Given the description of an element on the screen output the (x, y) to click on. 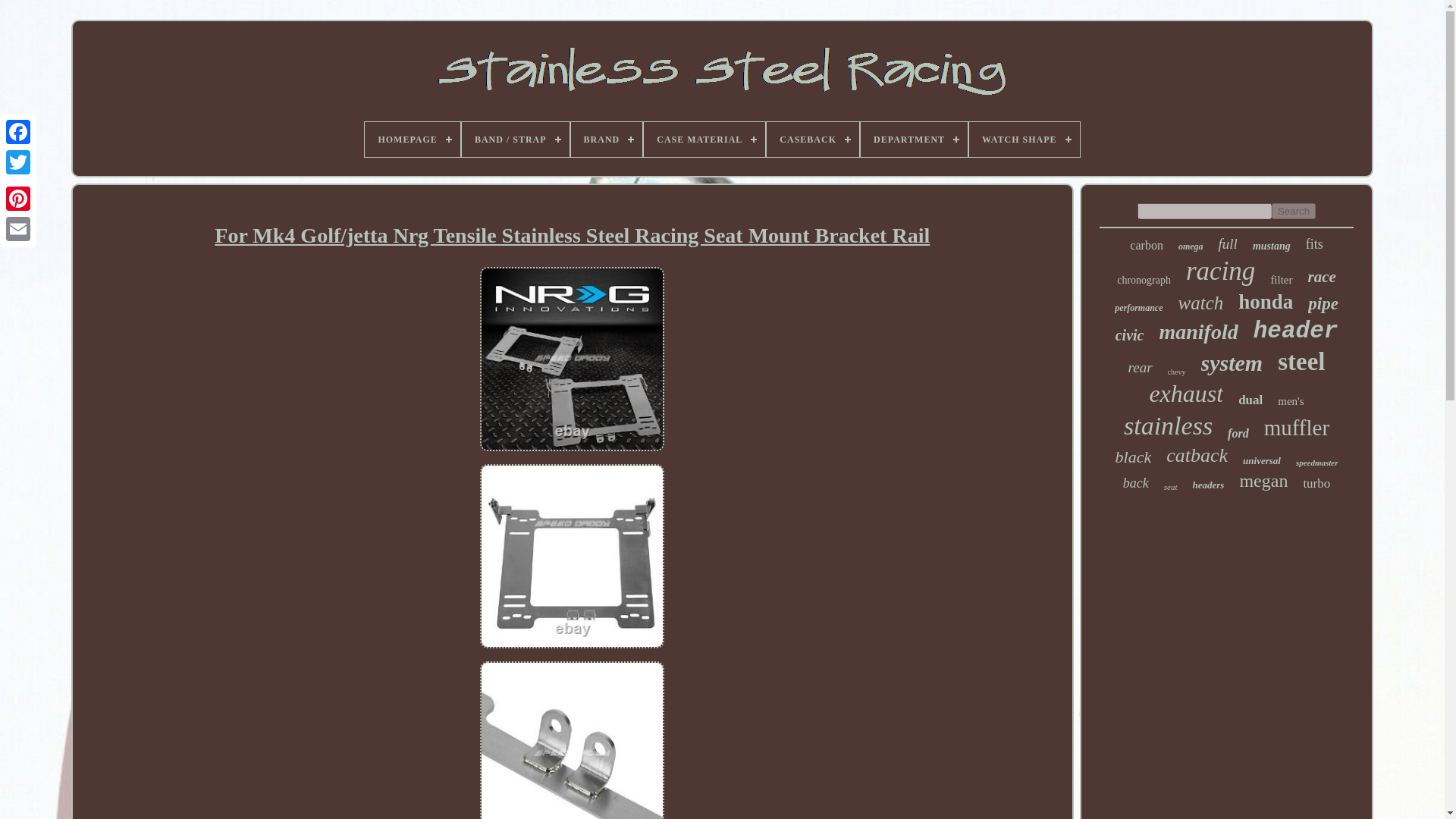
HOMEPAGE (412, 139)
Search (1293, 211)
BRAND (606, 139)
Pinterest (17, 198)
